Given the description of an element on the screen output the (x, y) to click on. 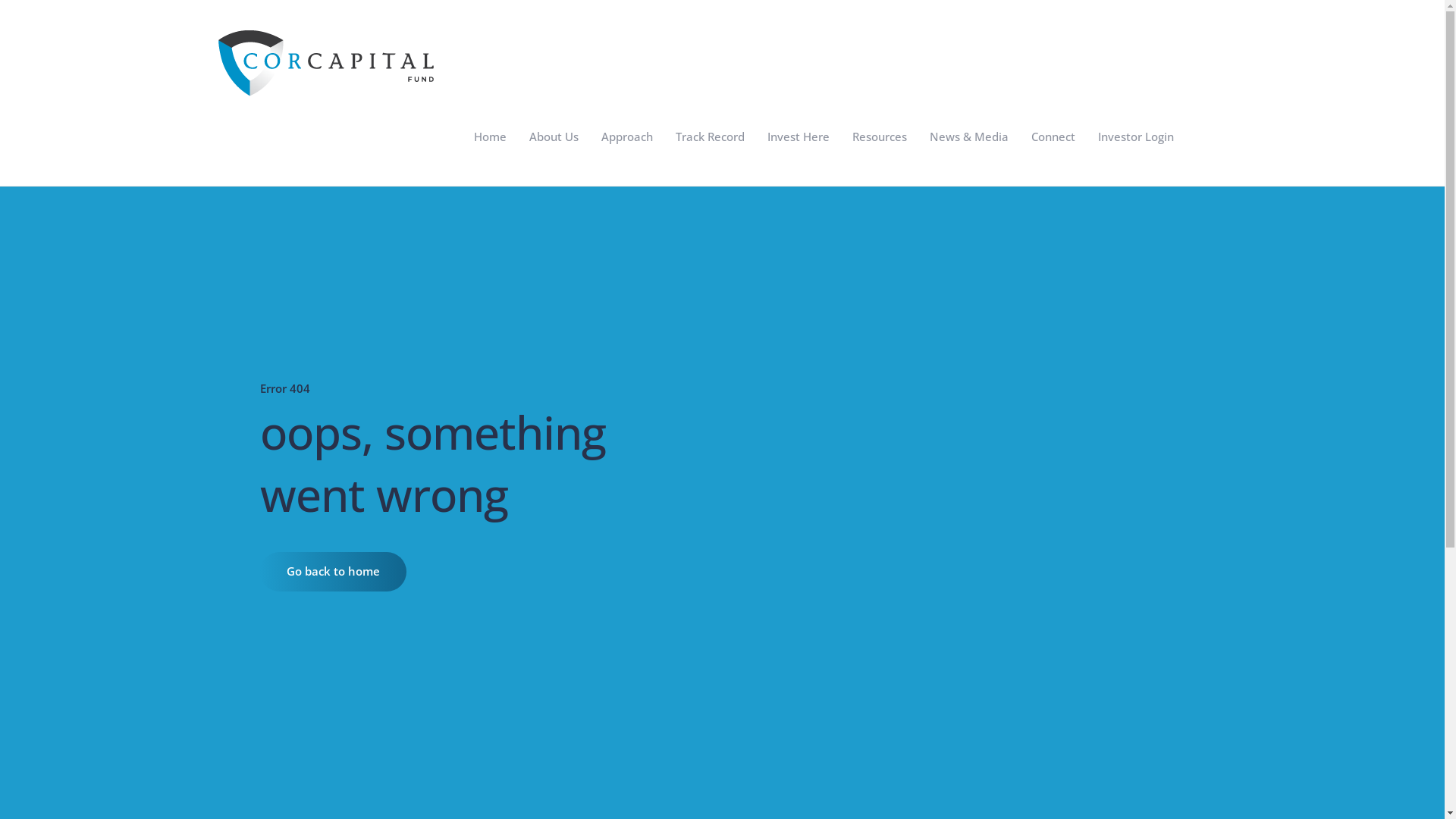
Go back to home Element type: text (332, 571)
Resources Element type: text (878, 136)
Home Element type: text (489, 136)
Invest Here Element type: text (797, 136)
Connect Element type: text (1052, 136)
News & Media Element type: text (968, 136)
About Us Element type: text (553, 136)
Investor Login Element type: text (1134, 136)
Approach Element type: text (626, 136)
Track Record Element type: text (710, 136)
